Given the description of an element on the screen output the (x, y) to click on. 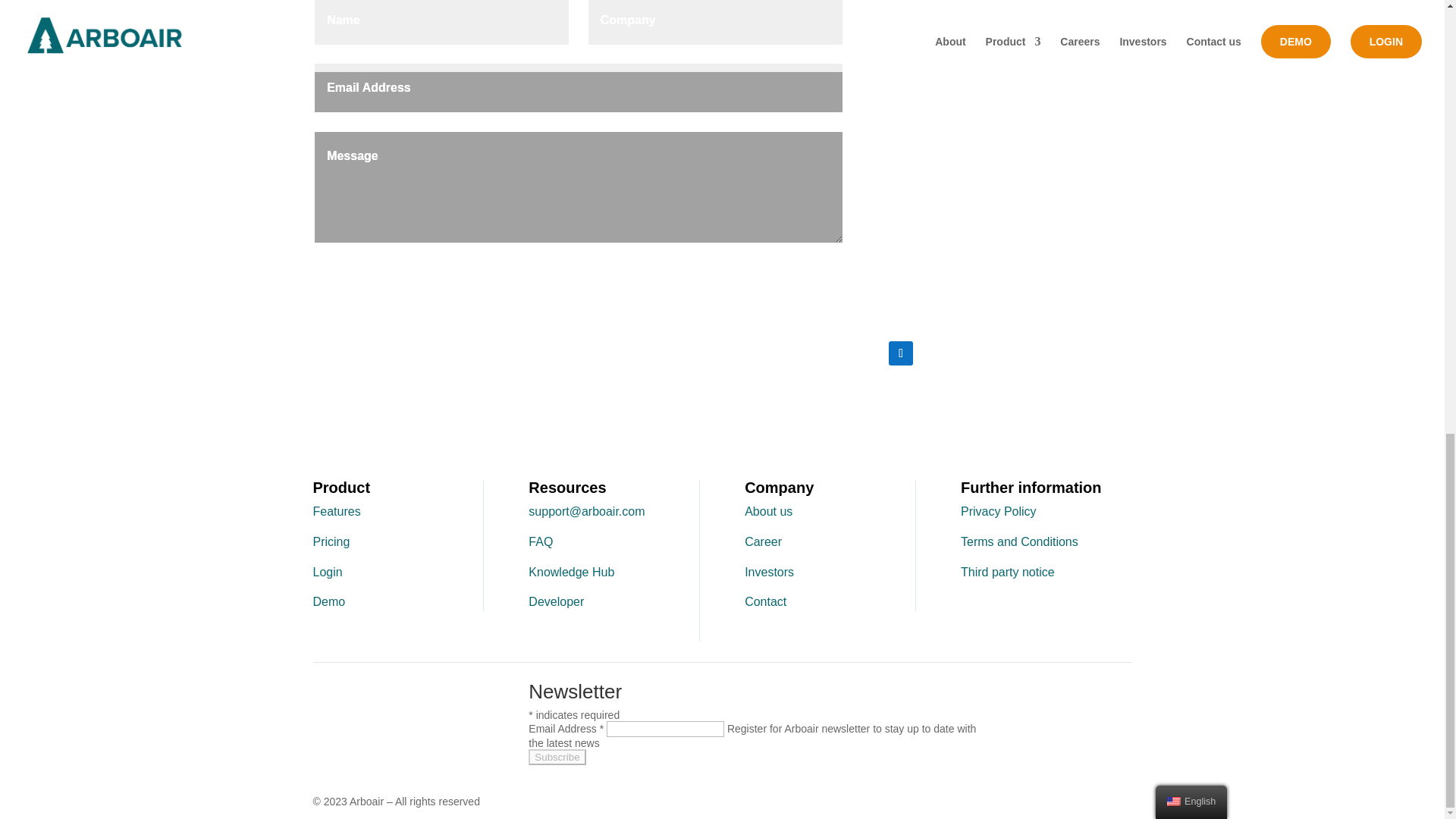
Subscribe (556, 756)
Investors (768, 571)
Career (762, 541)
Login (327, 571)
Knowledge Hub (571, 571)
Privacy Policy (998, 511)
Terms and Conditions (1019, 541)
Third party notice (1007, 571)
Developer (555, 601)
FAQ (540, 541)
